Given the description of an element on the screen output the (x, y) to click on. 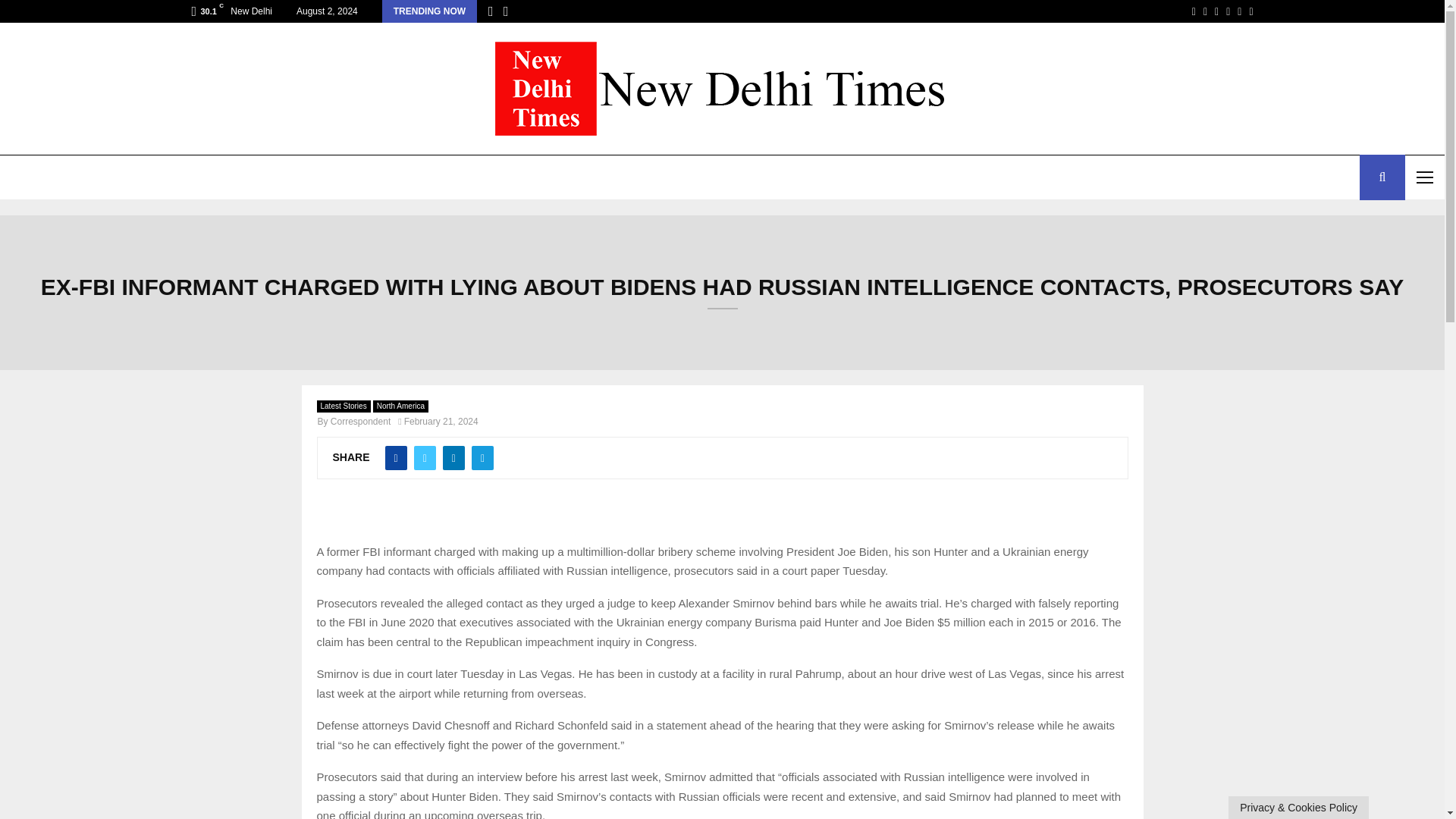
SPORTS (283, 176)
LATEST STORIES (56, 176)
WORLD (148, 176)
